Given the description of an element on the screen output the (x, y) to click on. 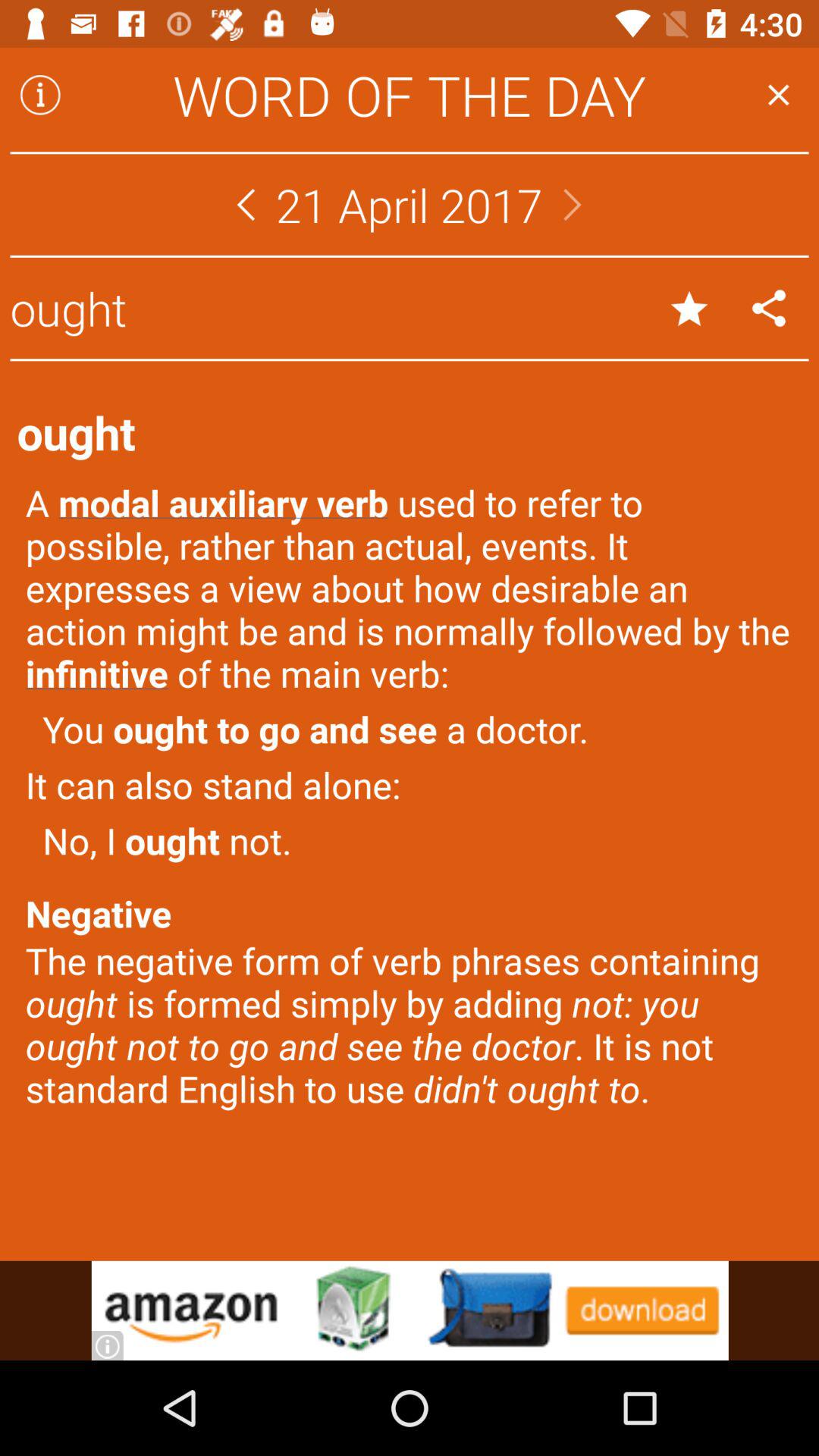
add to favorite (689, 307)
